Given the description of an element on the screen output the (x, y) to click on. 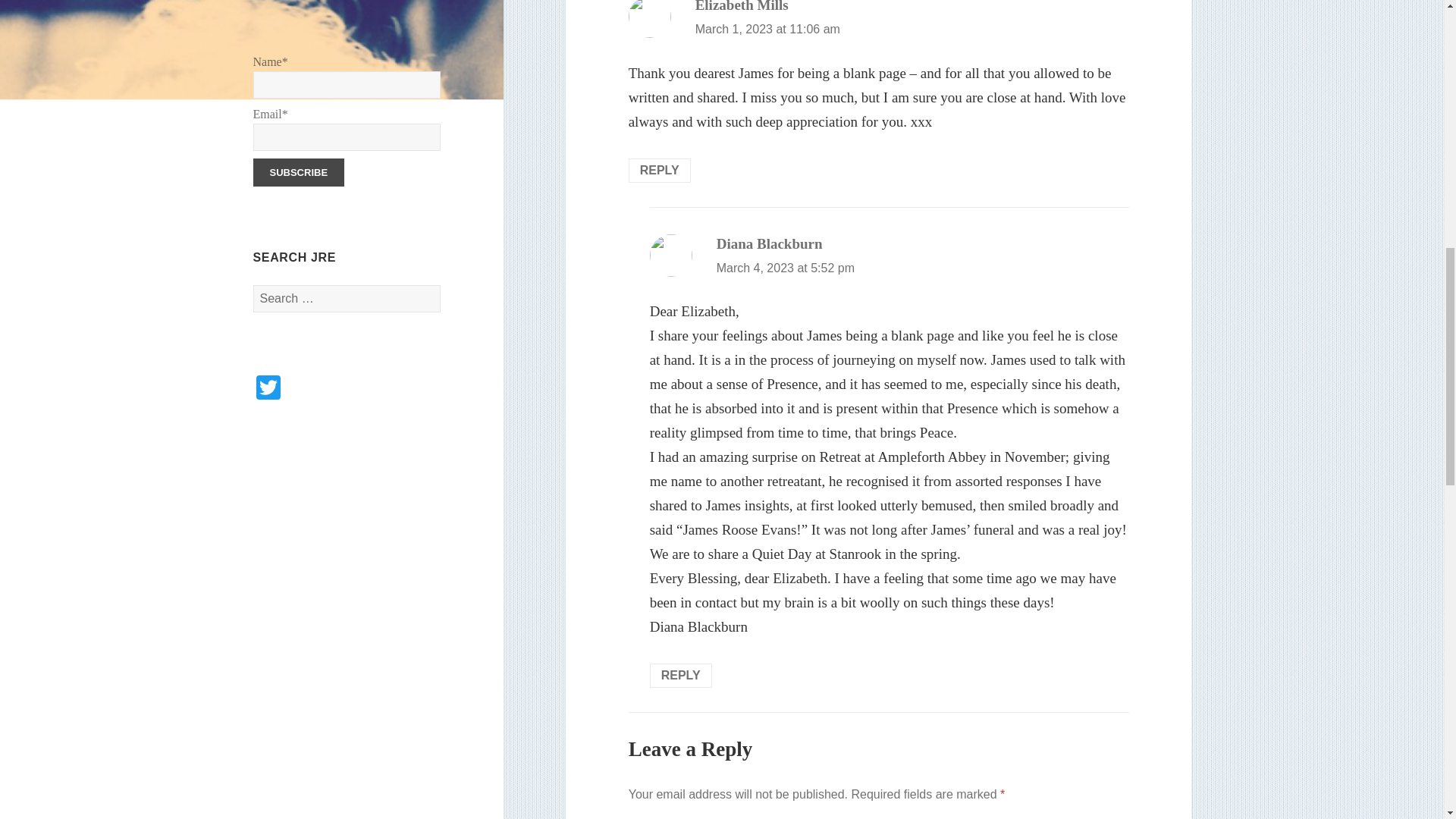
Subscribe (299, 172)
March 1, 2023 at 11:06 am (767, 29)
March 4, 2023 at 5:52 pm (785, 267)
Twitter (268, 389)
REPLY (659, 170)
Twitter (268, 389)
Subscribe (299, 172)
REPLY (680, 675)
